Given the description of an element on the screen output the (x, y) to click on. 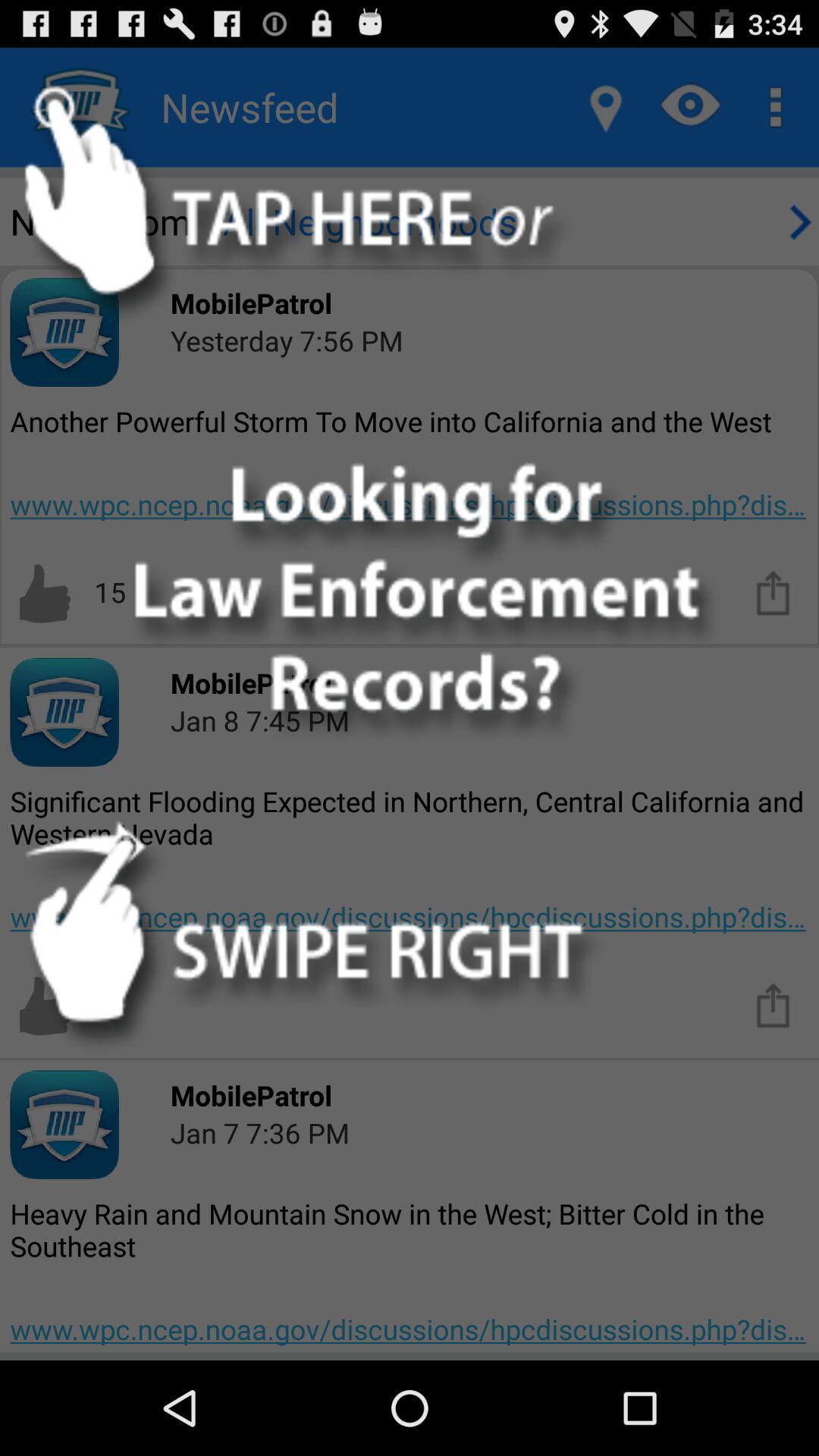
arrow key (797, 221)
